Given the description of an element on the screen output the (x, y) to click on. 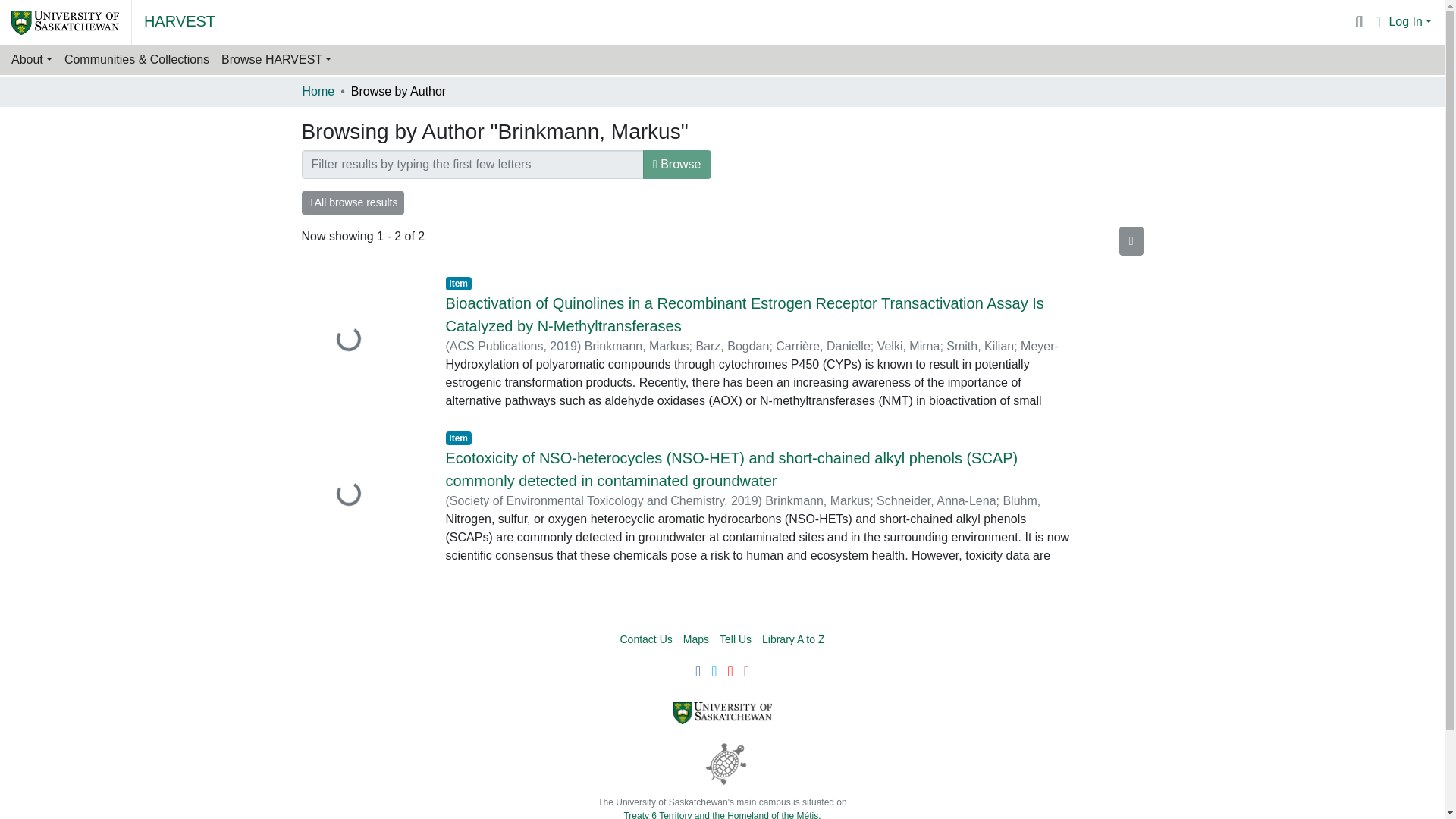
Maps (695, 639)
Log In (1409, 21)
About (31, 60)
Browse HARVEST (276, 60)
Language switch (1377, 22)
All browse results (352, 202)
HARVEST (179, 20)
Search (1358, 22)
Browse (677, 164)
Tell Us (735, 639)
Library A to Z (792, 639)
Contact Us (646, 639)
Home (317, 91)
Loading... (362, 340)
